Given the description of an element on the screen output the (x, y) to click on. 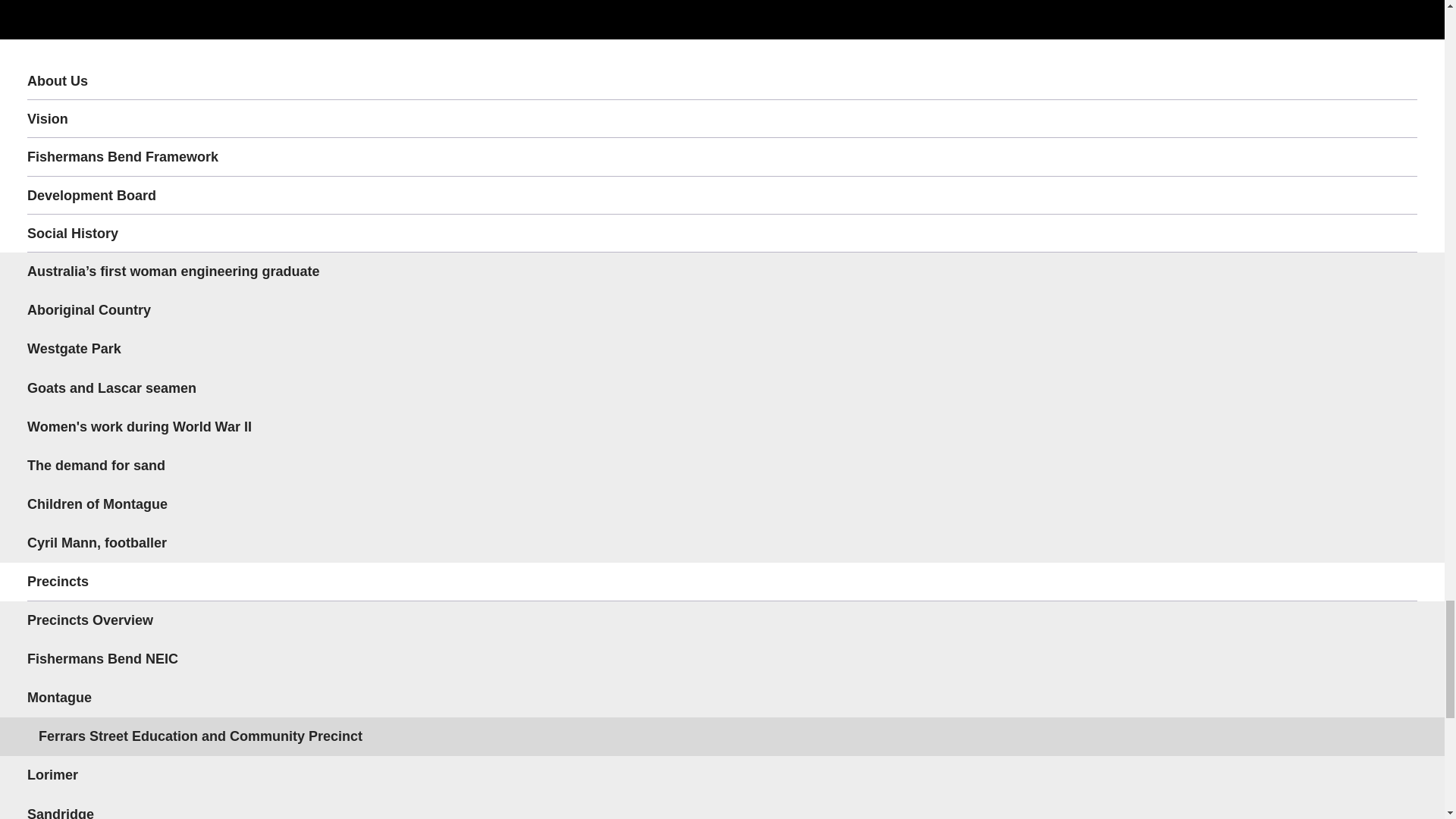
Open submenu (1397, 581)
Open submenu (1397, 697)
Open submenu (1397, 233)
